Given the description of an element on the screen output the (x, y) to click on. 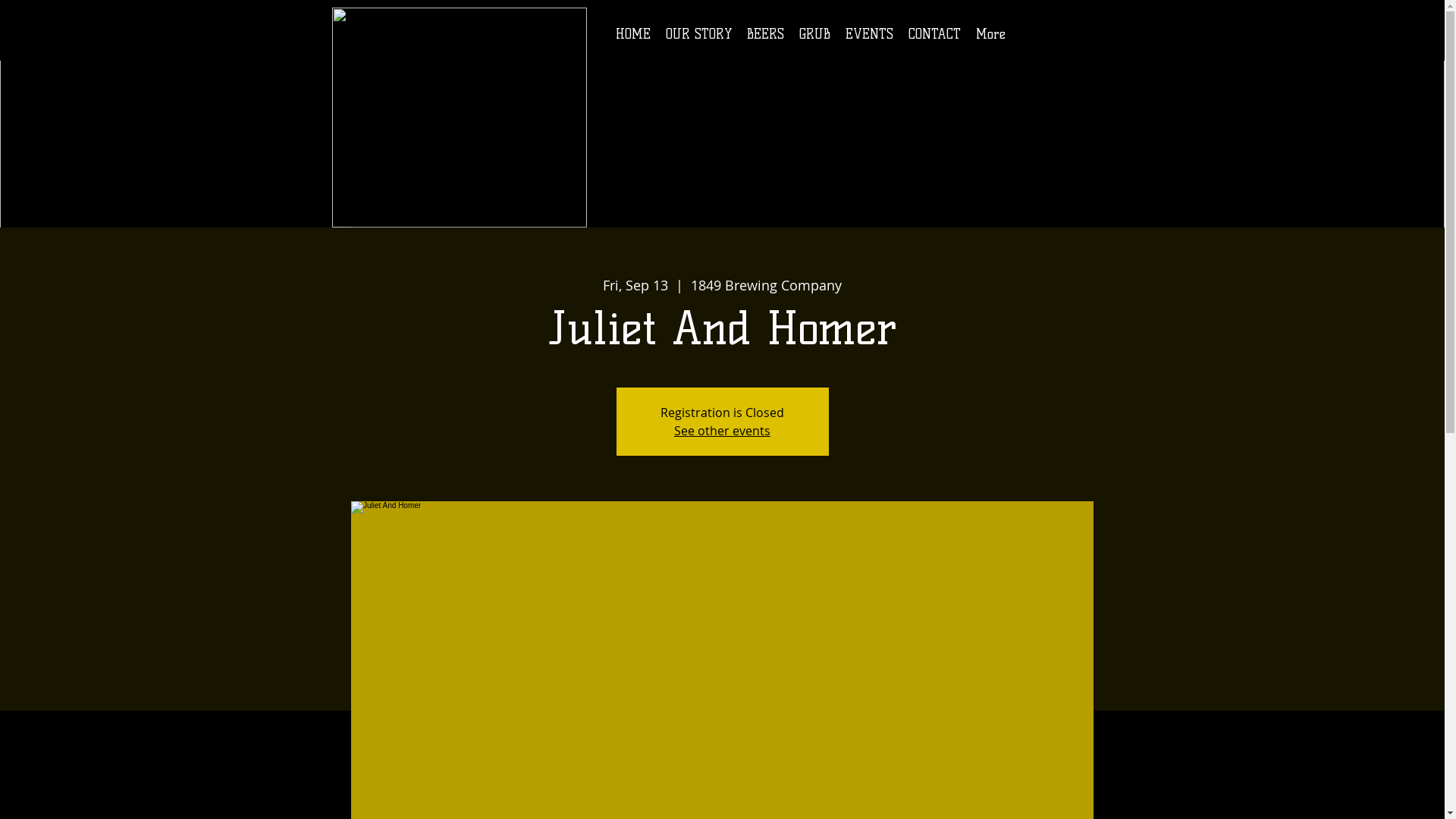
EVENTS Element type: text (868, 38)
21E74F19-81CC-4A27-B4B8-B327B5096544_1_201_a.jpeg Element type: hover (459, 117)
CONTACT Element type: text (934, 38)
HOME Element type: text (633, 38)
See other events Element type: text (722, 430)
GRUB Element type: text (814, 38)
BEERS Element type: text (764, 38)
OUR STORY Element type: text (698, 38)
